Given the description of an element on the screen output the (x, y) to click on. 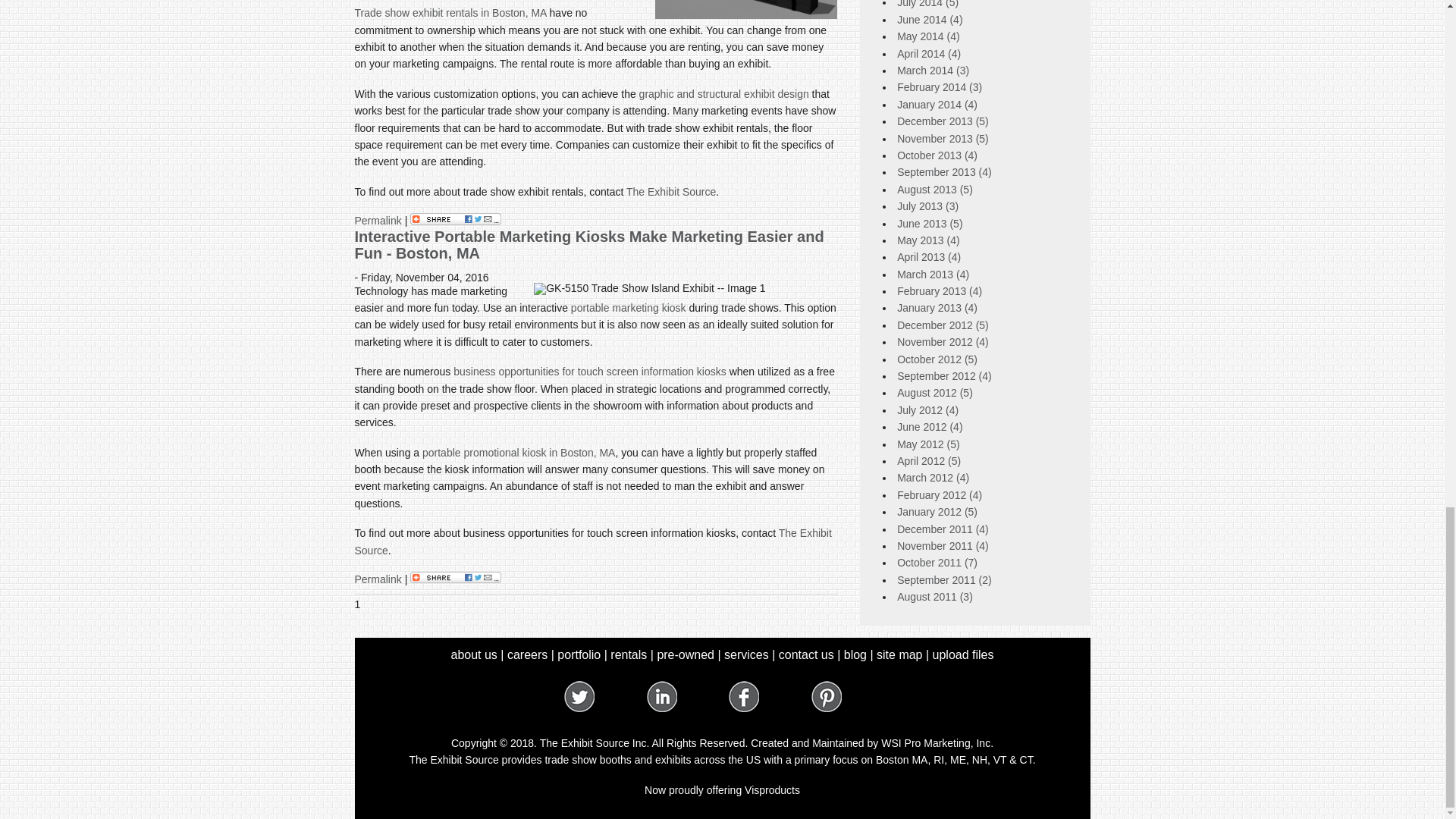
1 (358, 604)
